Given the description of an element on the screen output the (x, y) to click on. 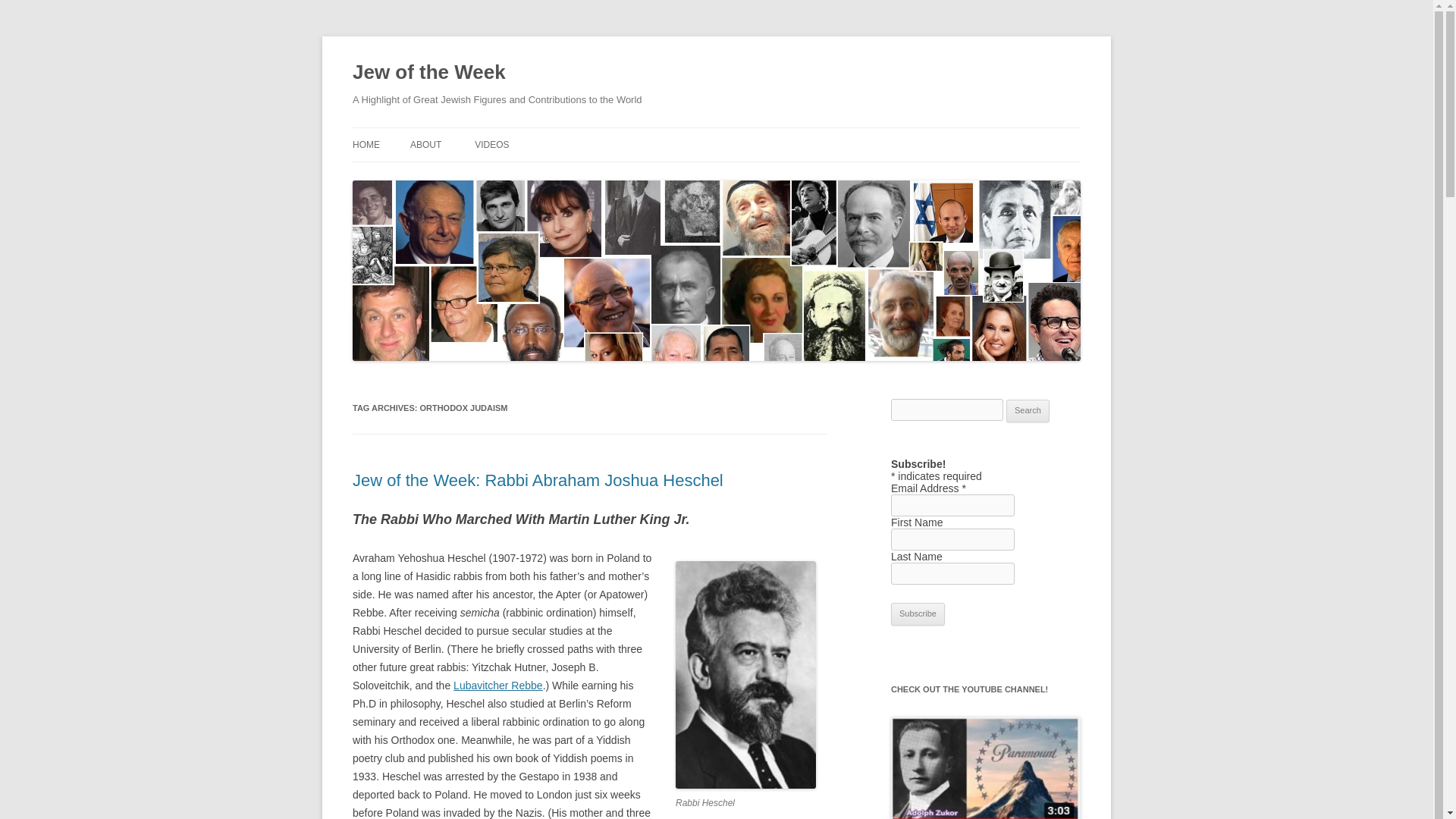
Jew of the Week (428, 72)
Jew of the Week: Rabbi Abraham Joshua Heschel (537, 479)
Lubavitcher Rebbe (497, 685)
VIDEOS (491, 144)
Search (1027, 410)
Subscribe (917, 613)
Jew of the Week (428, 72)
ABOUT (425, 144)
